Given the description of an element on the screen output the (x, y) to click on. 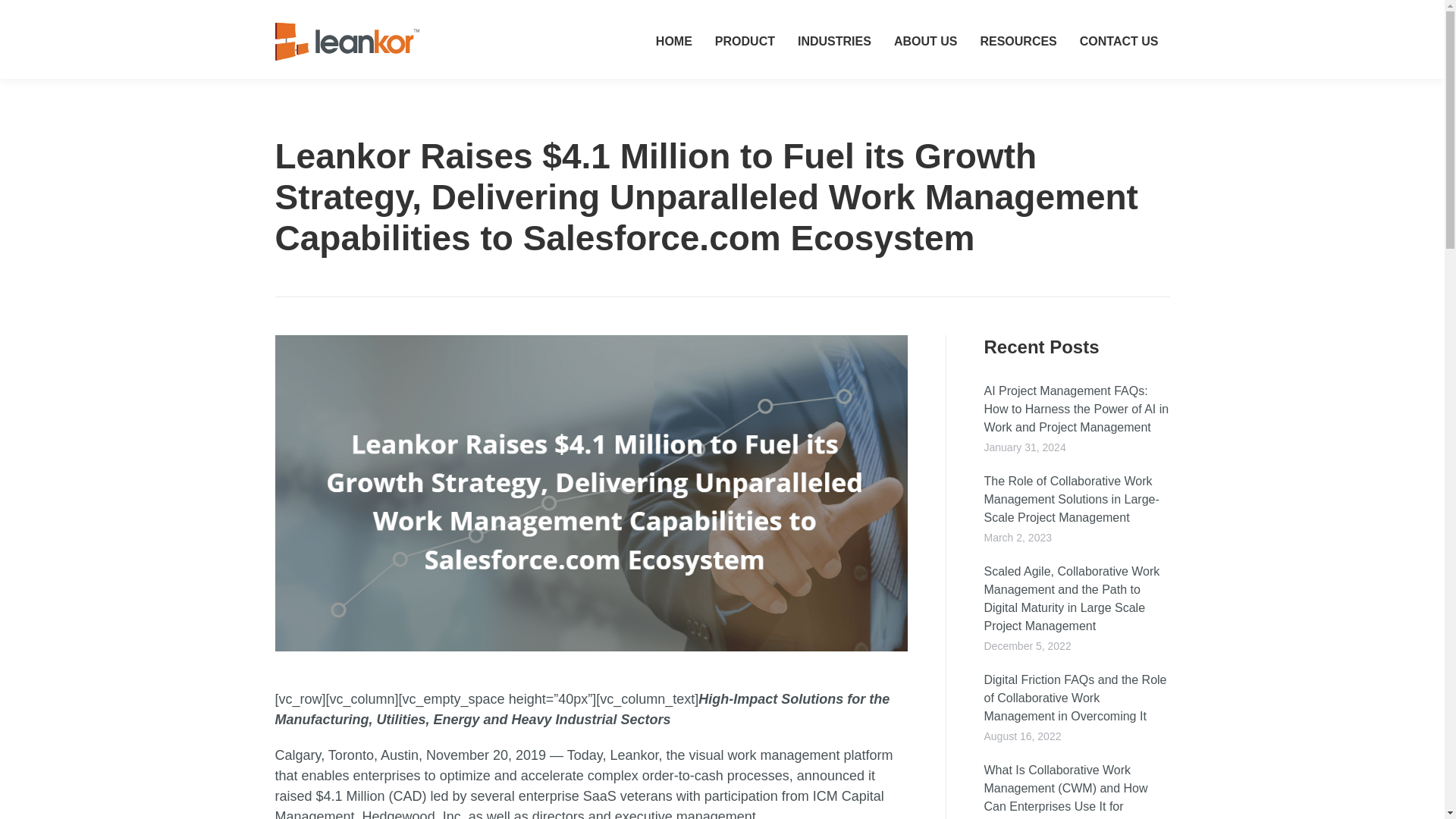
HOME (674, 41)
INDUSTRIES (834, 41)
PRODUCT (744, 41)
